Given the description of an element on the screen output the (x, y) to click on. 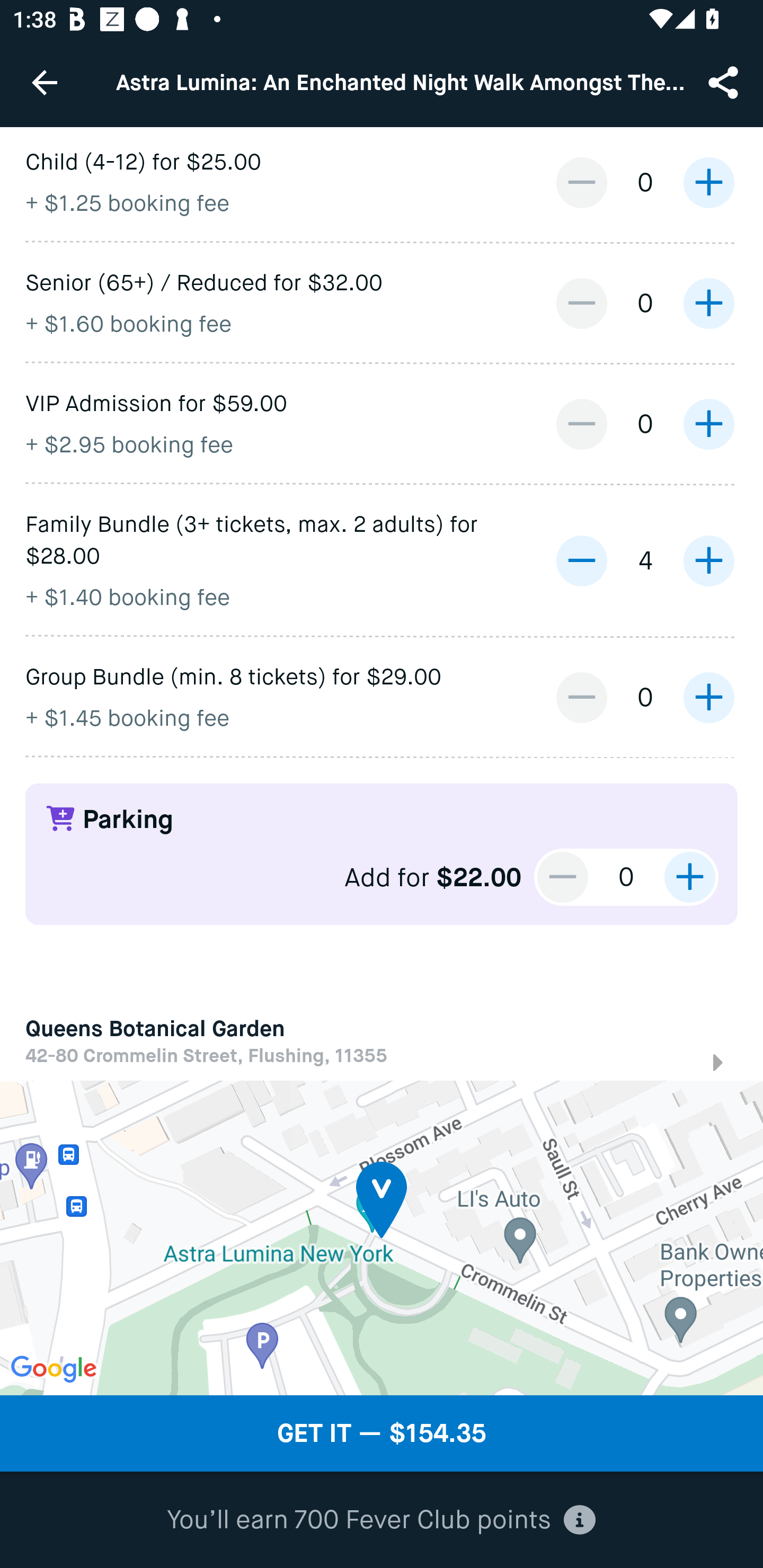
Navigate up (44, 82)
Share (724, 81)
decrease (581, 182)
increase (708, 182)
decrease (581, 302)
increase (708, 302)
decrease (581, 423)
increase (708, 423)
decrease (581, 560)
increase (708, 560)
decrease (581, 697)
increase (708, 697)
decrease (562, 876)
increase (689, 876)
Google Map Map Marker (381, 1237)
GET IT — $154.35 (381, 1433)
You’ll earn 700 Fever Club points (381, 1519)
